Given the description of an element on the screen output the (x, y) to click on. 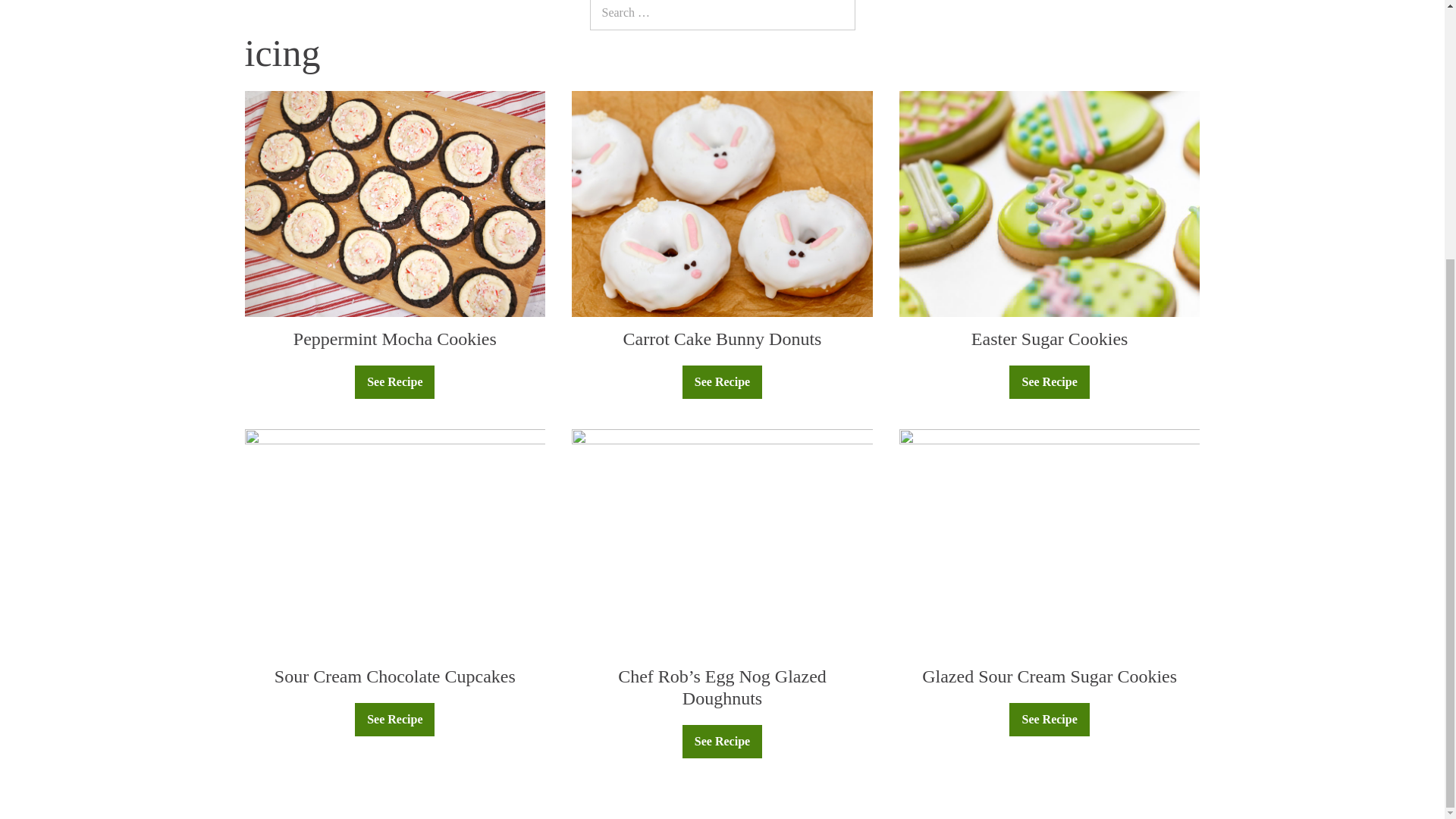
Carrot Cake Bunny Donuts (722, 338)
Peppermint Mocha Cookies (395, 338)
Easter Sugar Cookies (1049, 338)
Press enter to search (722, 15)
Sour Cream Chocolate Cupcakes (395, 676)
